Given the description of an element on the screen output the (x, y) to click on. 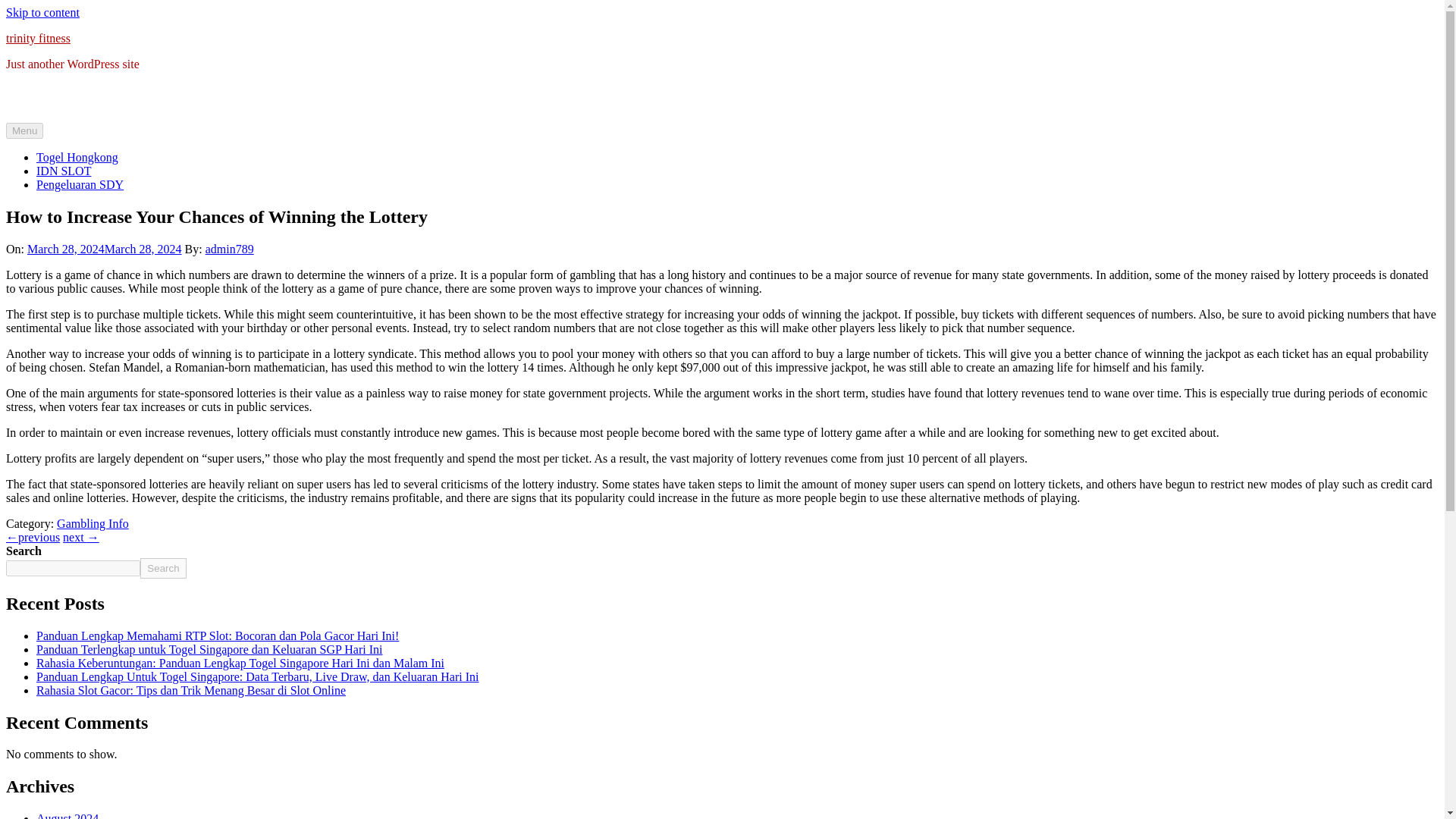
Menu (24, 130)
Search (162, 567)
admin789 (229, 248)
March 28, 2024March 28, 2024 (104, 248)
Pengeluaran SDY (79, 184)
Skip to content (42, 11)
trinity fitness (37, 38)
Togel Hongkong (76, 156)
